Given the description of an element on the screen output the (x, y) to click on. 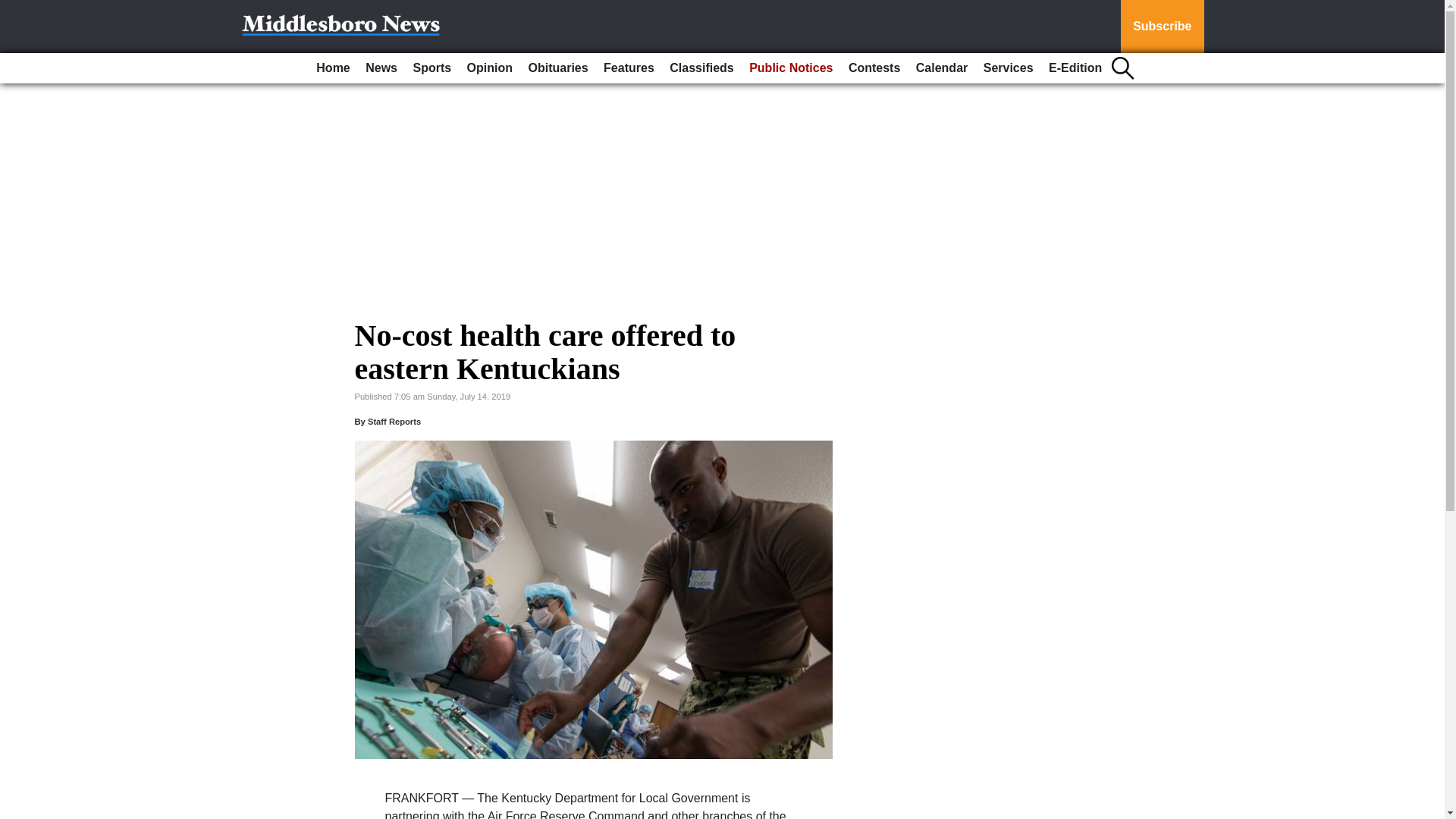
Sports (431, 68)
News (381, 68)
Obituaries (557, 68)
Go (13, 9)
Subscribe (1162, 26)
Staff Reports (394, 420)
Contests (874, 68)
Services (1007, 68)
Opinion (489, 68)
Public Notices (790, 68)
